Given the description of an element on the screen output the (x, y) to click on. 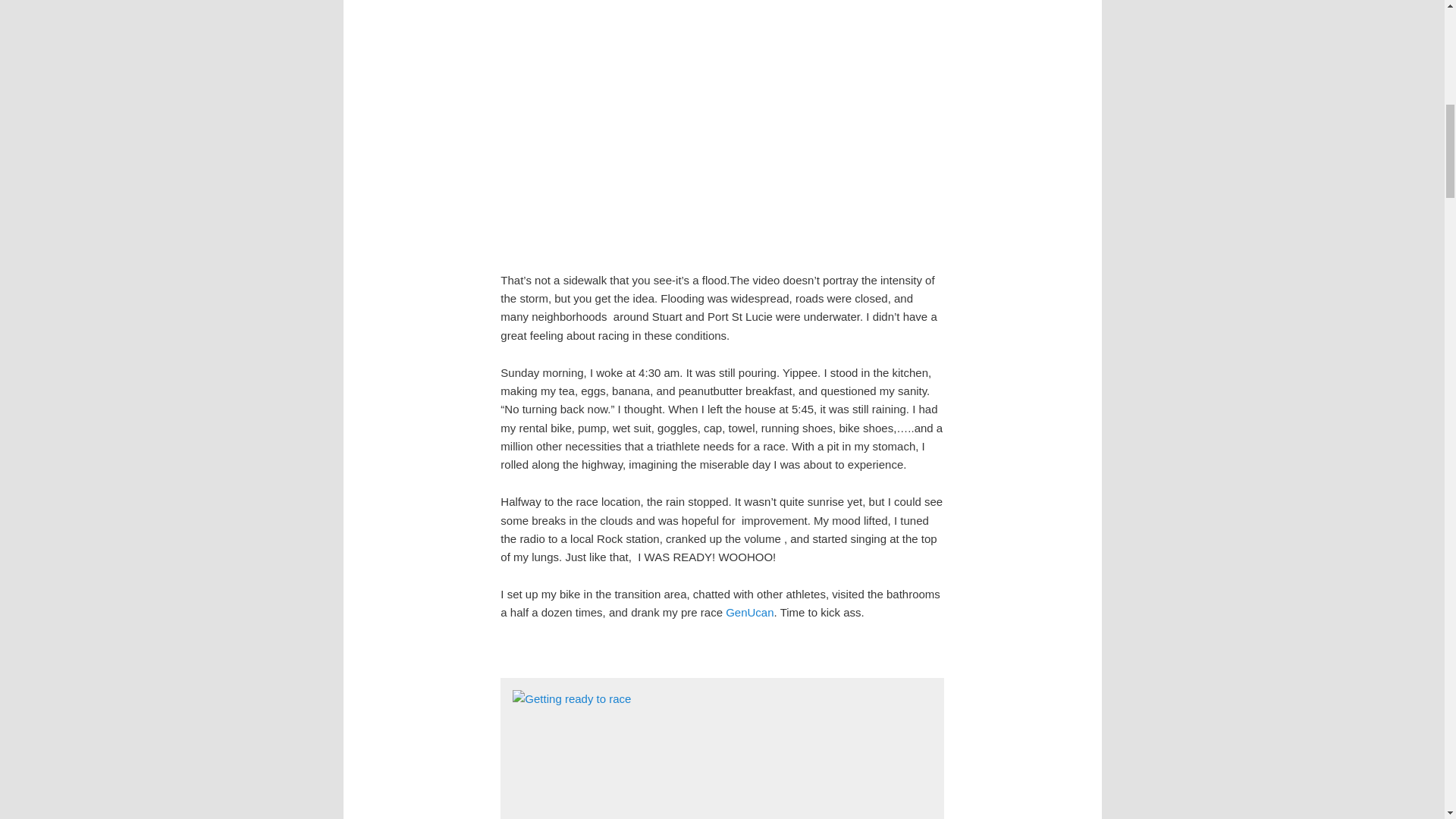
GenUcan (749, 612)
GenUcan (749, 612)
Storm before the triathlon (721, 123)
